Given the description of an element on the screen output the (x, y) to click on. 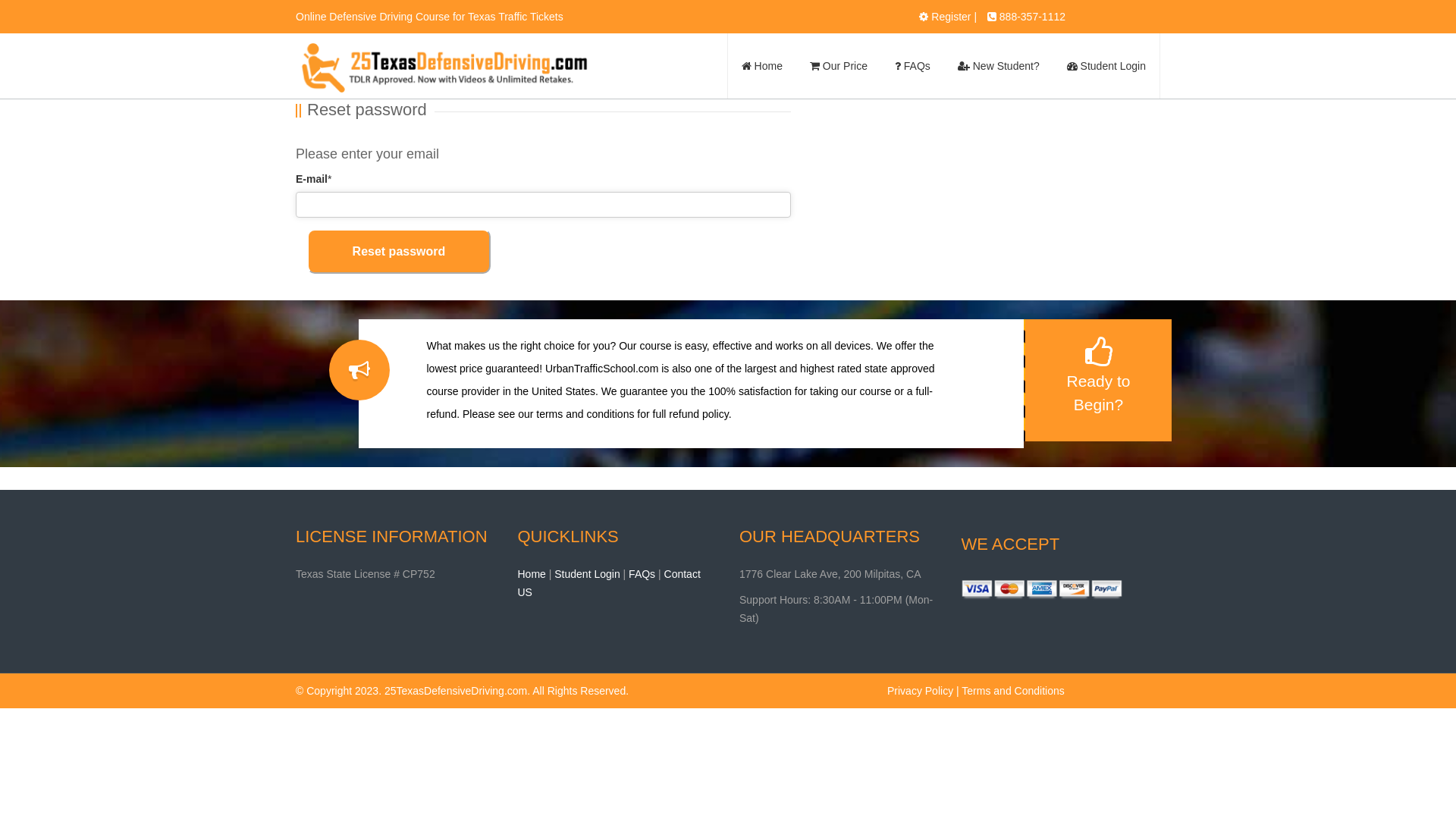
Our Price Element type: text (838, 65)
Student Login Element type: text (586, 573)
FAQs Element type: text (641, 573)
Reset password Element type: text (398, 251)
Home Element type: text (762, 65)
Home Element type: text (531, 573)
Contact US Element type: text (608, 582)
Ready to Begin? Element type: text (1097, 380)
Privacy Policy Element type: text (920, 690)
FAQs Element type: text (912, 65)
Student Login Element type: text (1106, 65)
Terms and Conditions Element type: text (1012, 690)
New Student? Element type: text (998, 65)
Register Element type: text (950, 16)
